Given the description of an element on the screen output the (x, y) to click on. 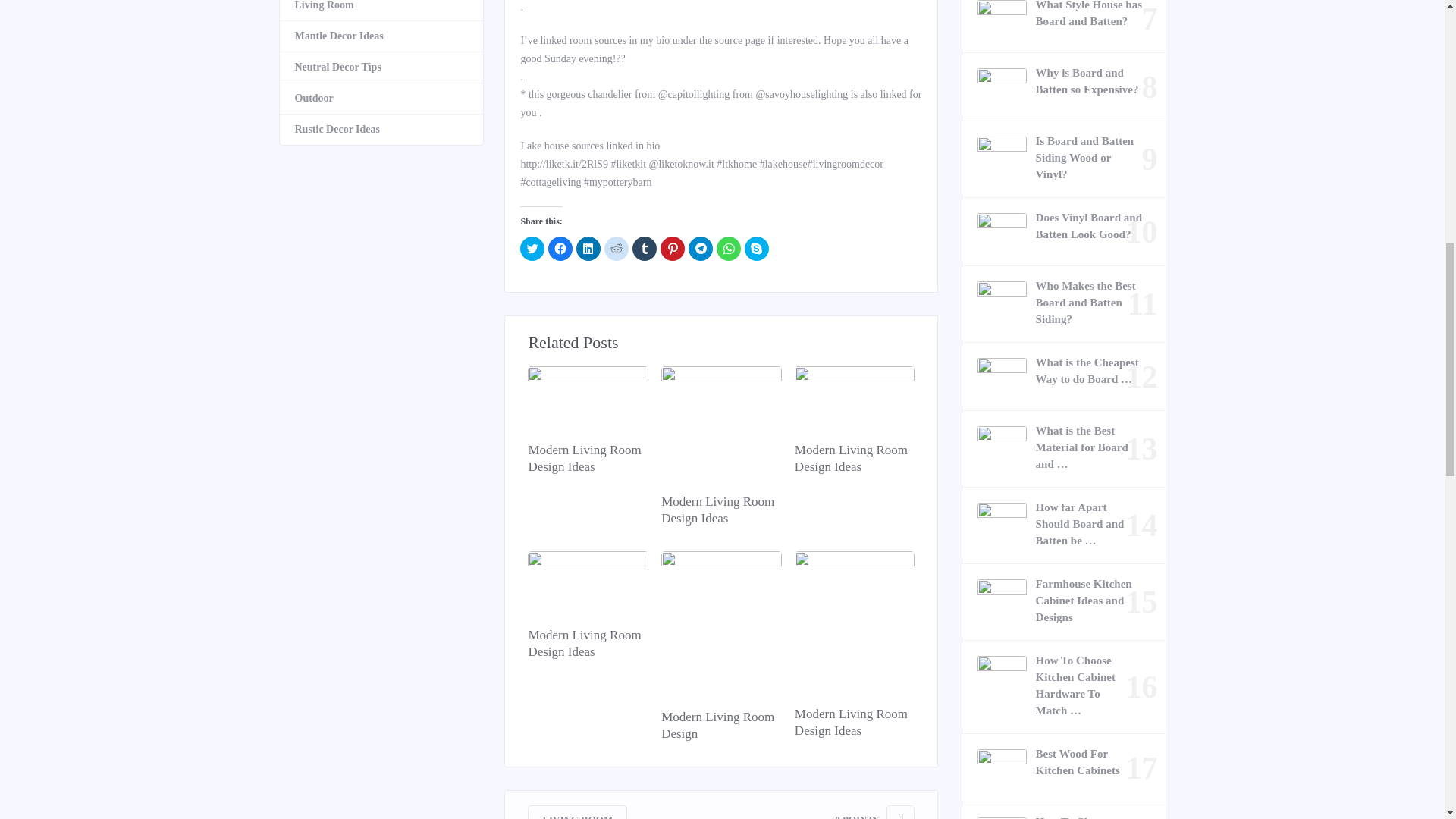
Modern Living Room Design Ideas (587, 643)
Click to share on Facebook (560, 248)
Click to share on WhatsApp (728, 248)
Click to share on Tumblr (643, 248)
LIVING ROOM (577, 812)
Modern Living Room Design (720, 725)
Modern Living Room Design Ideas (854, 722)
Click to share on Twitter (531, 248)
Click to share on Telegram (700, 248)
Modern Living Room Design Ideas (587, 458)
